Given the description of an element on the screen output the (x, y) to click on. 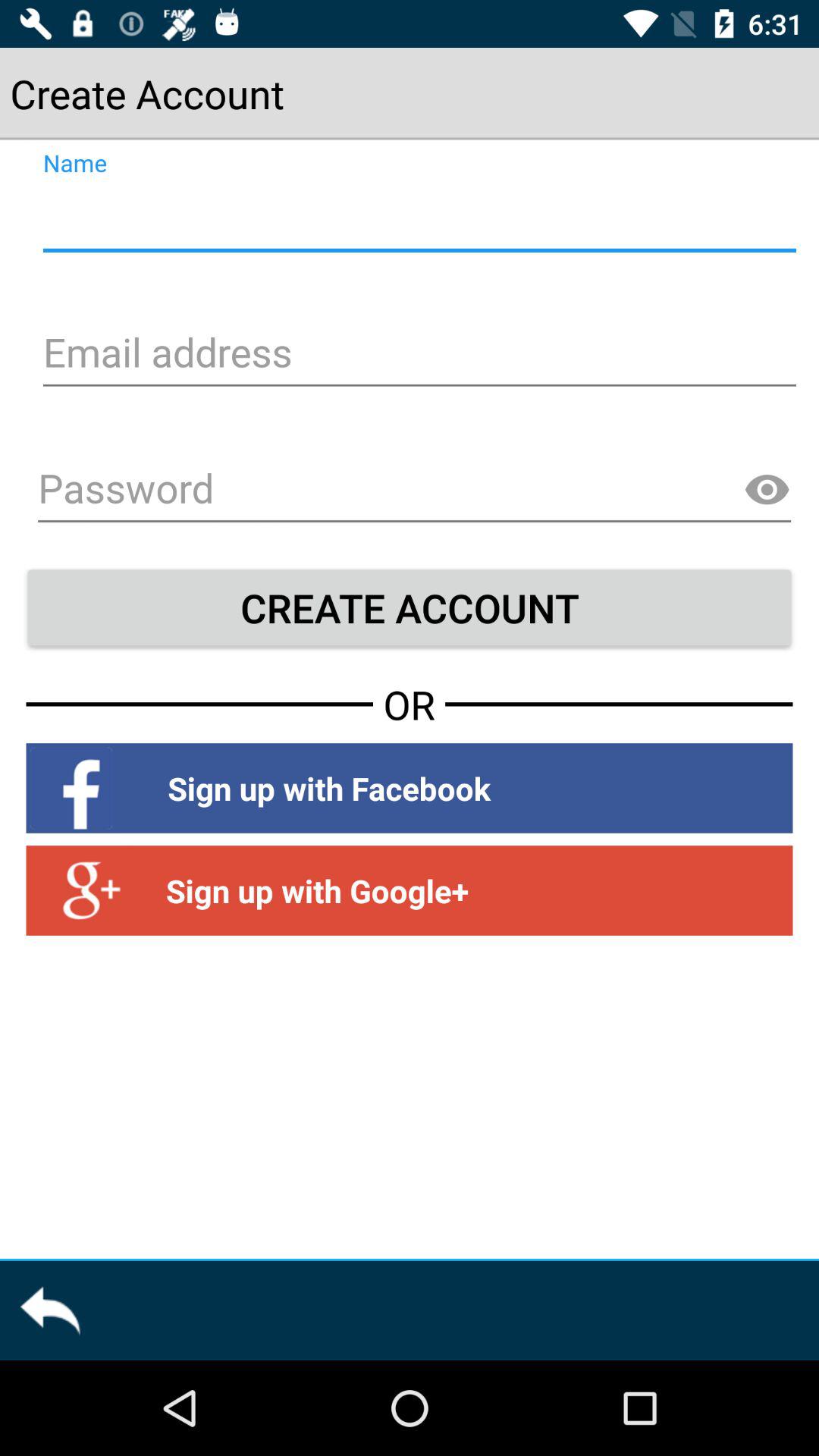
eye bar option (767, 490)
